Given the description of an element on the screen output the (x, y) to click on. 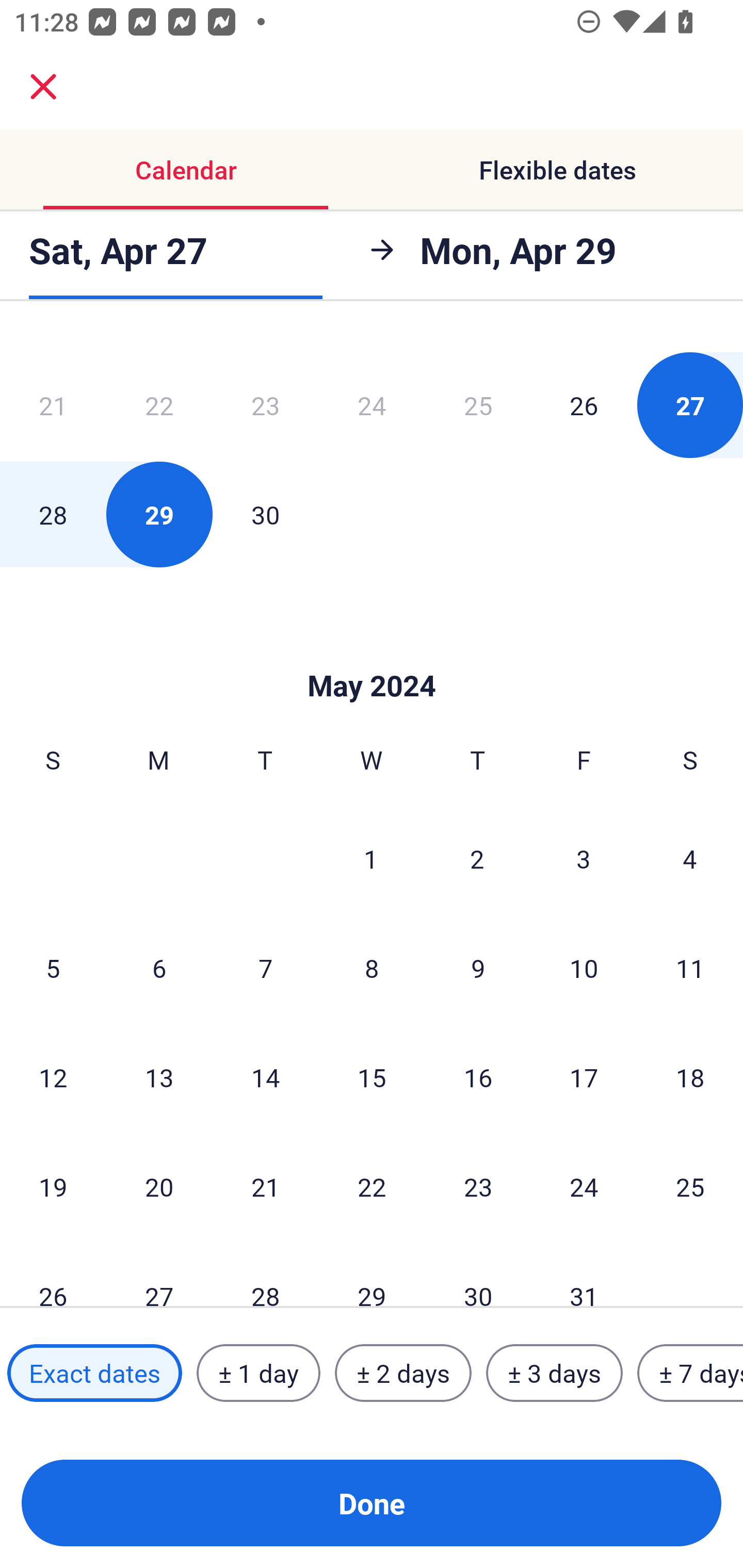
close. (43, 86)
Flexible dates (557, 170)
21 Sunday, April 21, 2024 (53, 404)
22 Monday, April 22, 2024 (159, 404)
23 Tuesday, April 23, 2024 (265, 404)
24 Wednesday, April 24, 2024 (371, 404)
25 Thursday, April 25, 2024 (477, 404)
26 Friday, April 26, 2024 (584, 404)
30 Tuesday, April 30, 2024 (265, 513)
Skip to Done (371, 654)
1 Wednesday, May 1, 2024 (371, 858)
2 Thursday, May 2, 2024 (477, 858)
3 Friday, May 3, 2024 (583, 858)
4 Saturday, May 4, 2024 (689, 858)
5 Sunday, May 5, 2024 (53, 967)
6 Monday, May 6, 2024 (159, 967)
7 Tuesday, May 7, 2024 (265, 967)
8 Wednesday, May 8, 2024 (371, 967)
9 Thursday, May 9, 2024 (477, 967)
10 Friday, May 10, 2024 (584, 967)
11 Saturday, May 11, 2024 (690, 967)
12 Sunday, May 12, 2024 (53, 1076)
13 Monday, May 13, 2024 (159, 1076)
14 Tuesday, May 14, 2024 (265, 1076)
15 Wednesday, May 15, 2024 (371, 1076)
16 Thursday, May 16, 2024 (477, 1076)
17 Friday, May 17, 2024 (584, 1076)
18 Saturday, May 18, 2024 (690, 1076)
19 Sunday, May 19, 2024 (53, 1185)
20 Monday, May 20, 2024 (159, 1185)
21 Tuesday, May 21, 2024 (265, 1185)
22 Wednesday, May 22, 2024 (371, 1185)
23 Thursday, May 23, 2024 (477, 1185)
24 Friday, May 24, 2024 (584, 1185)
25 Saturday, May 25, 2024 (690, 1185)
26 Sunday, May 26, 2024 (53, 1274)
27 Monday, May 27, 2024 (159, 1274)
28 Tuesday, May 28, 2024 (265, 1274)
29 Wednesday, May 29, 2024 (371, 1274)
30 Thursday, May 30, 2024 (477, 1274)
31 Friday, May 31, 2024 (584, 1274)
Exact dates (94, 1372)
± 1 day (258, 1372)
± 2 days (403, 1372)
± 3 days (553, 1372)
± 7 days (690, 1372)
Done (371, 1502)
